Given the description of an element on the screen output the (x, y) to click on. 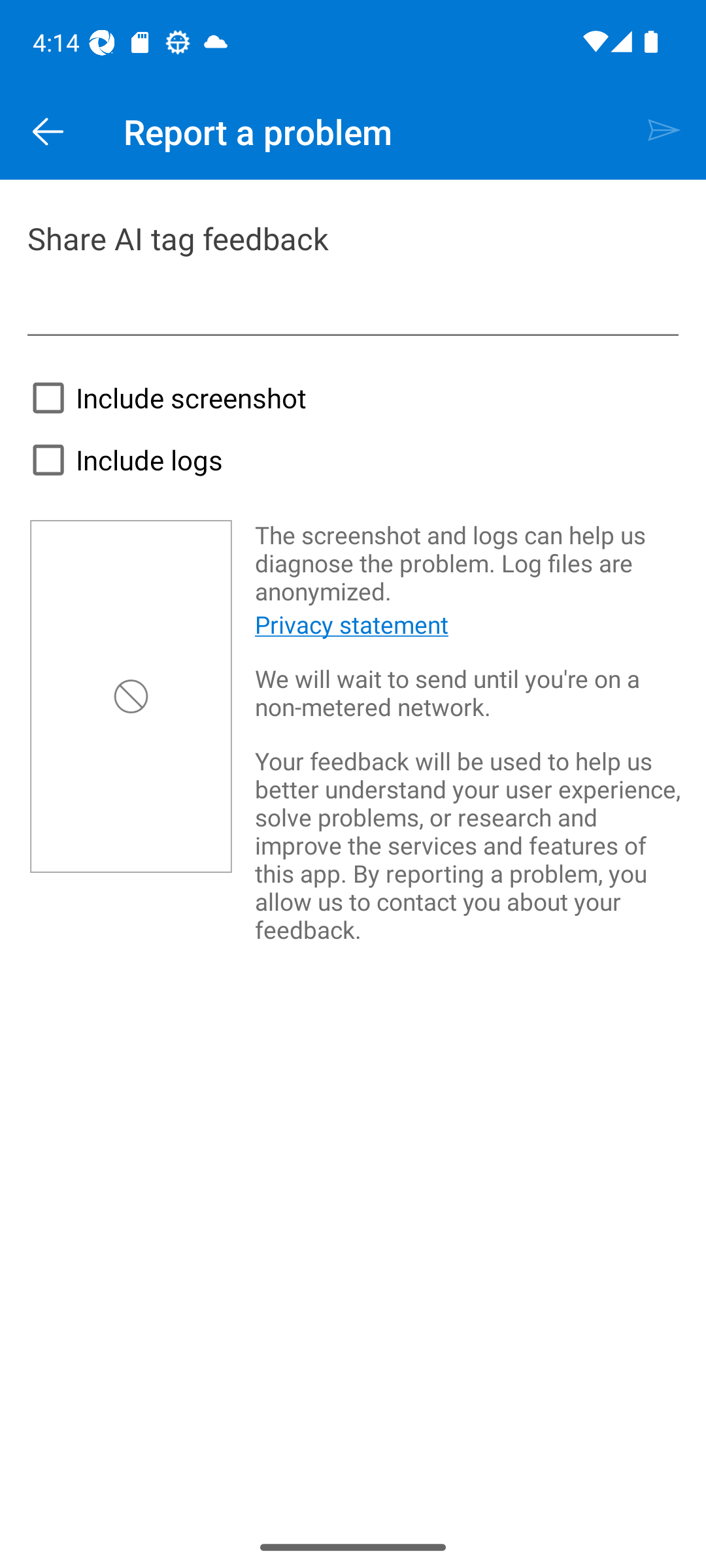
Navigate up (48, 131)
Send (664, 131)
Share AI tag feedback (352, 274)
Include screenshot (163, 397)
Include logs (122, 459)
